Given the description of an element on the screen output the (x, y) to click on. 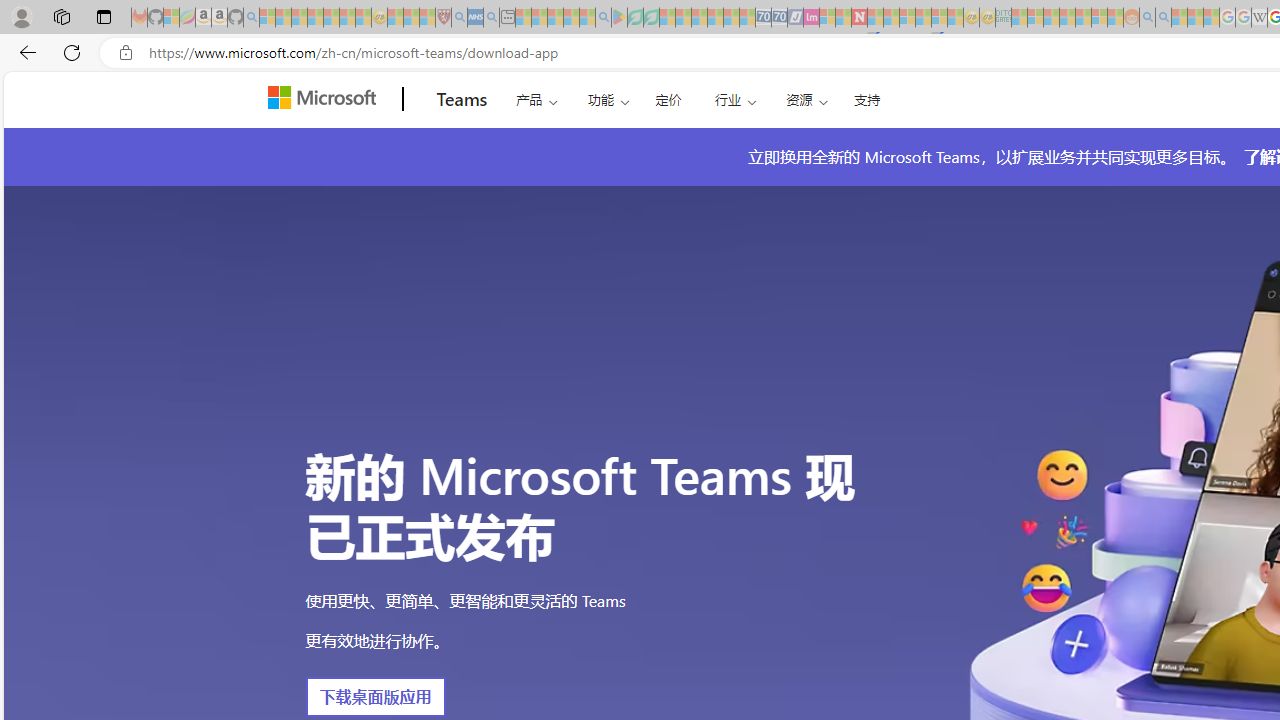
Target page - Wikipedia - Sleeping (1259, 17)
Jobs - lastminute.com Investor Portal - Sleeping (811, 17)
New tab - Sleeping (507, 17)
Trusted Community Engagement and Contributions | Guidelines (875, 17)
Terms of Use Agreement - Sleeping (635, 17)
Local - MSN - Sleeping (427, 17)
